Given the description of an element on the screen output the (x, y) to click on. 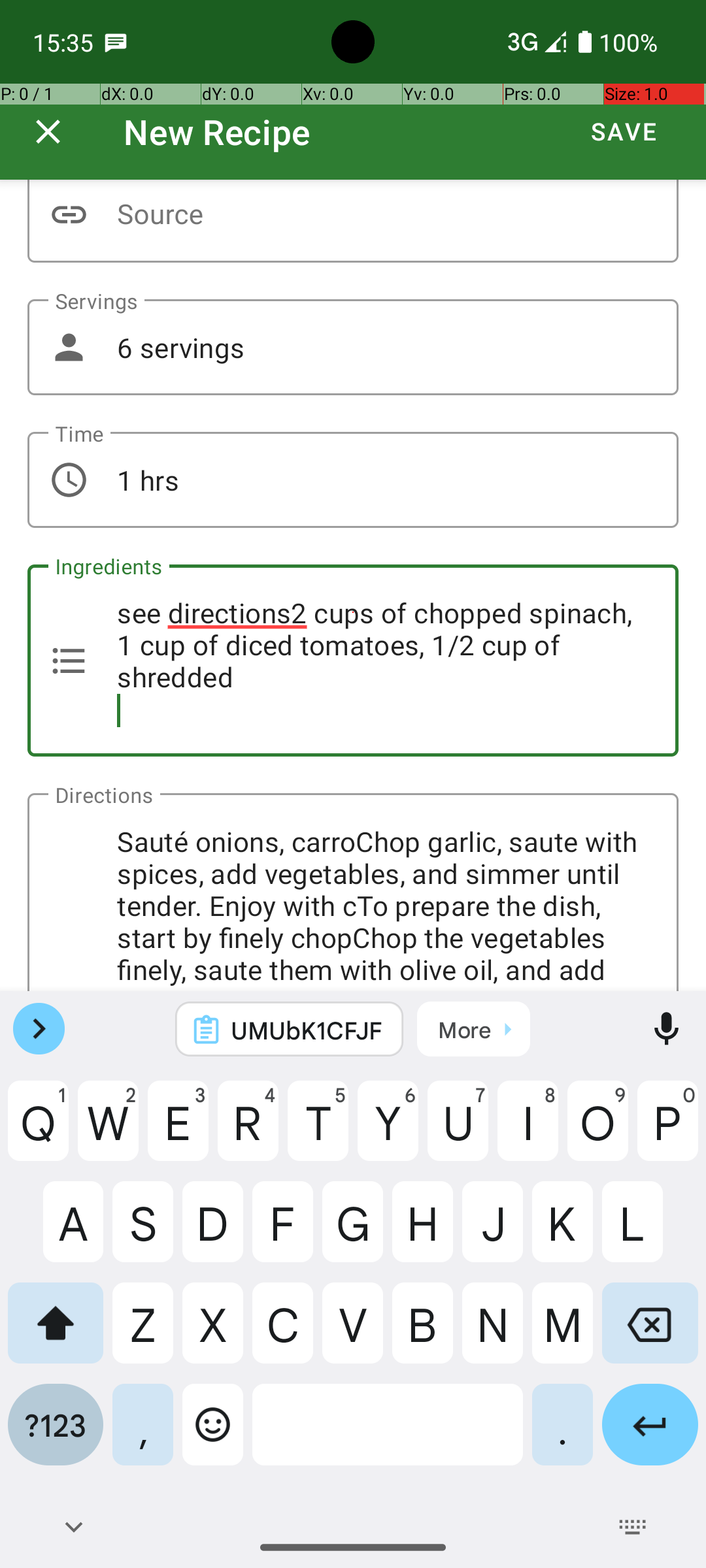
Source Element type: android.widget.EditText (352, 220)
see directions2 cups of chopped spinach, 1 cup of diced tomatoes, 1/2 cup of shredded
 Element type: android.widget.EditText (352, 660)
Sauté onions, carroChop garlic, saute with spices, add vegetables, and simmer until tender. Enjoy with cTo prepare the dish, start by finely chopChop the vegetables finely, saute them with olive oil, and add seasonings to taste. Cook
ping the onions and garlic. Saute them in olive oil
rusty
ts, and celery, add broth, canned tomatoes, and chickpeas. Simmer with spinach and seasonings. Feel free to substitute with ingredients you have on hand. Element type: android.widget.EditText (352, 892)
